Given the description of an element on the screen output the (x, y) to click on. 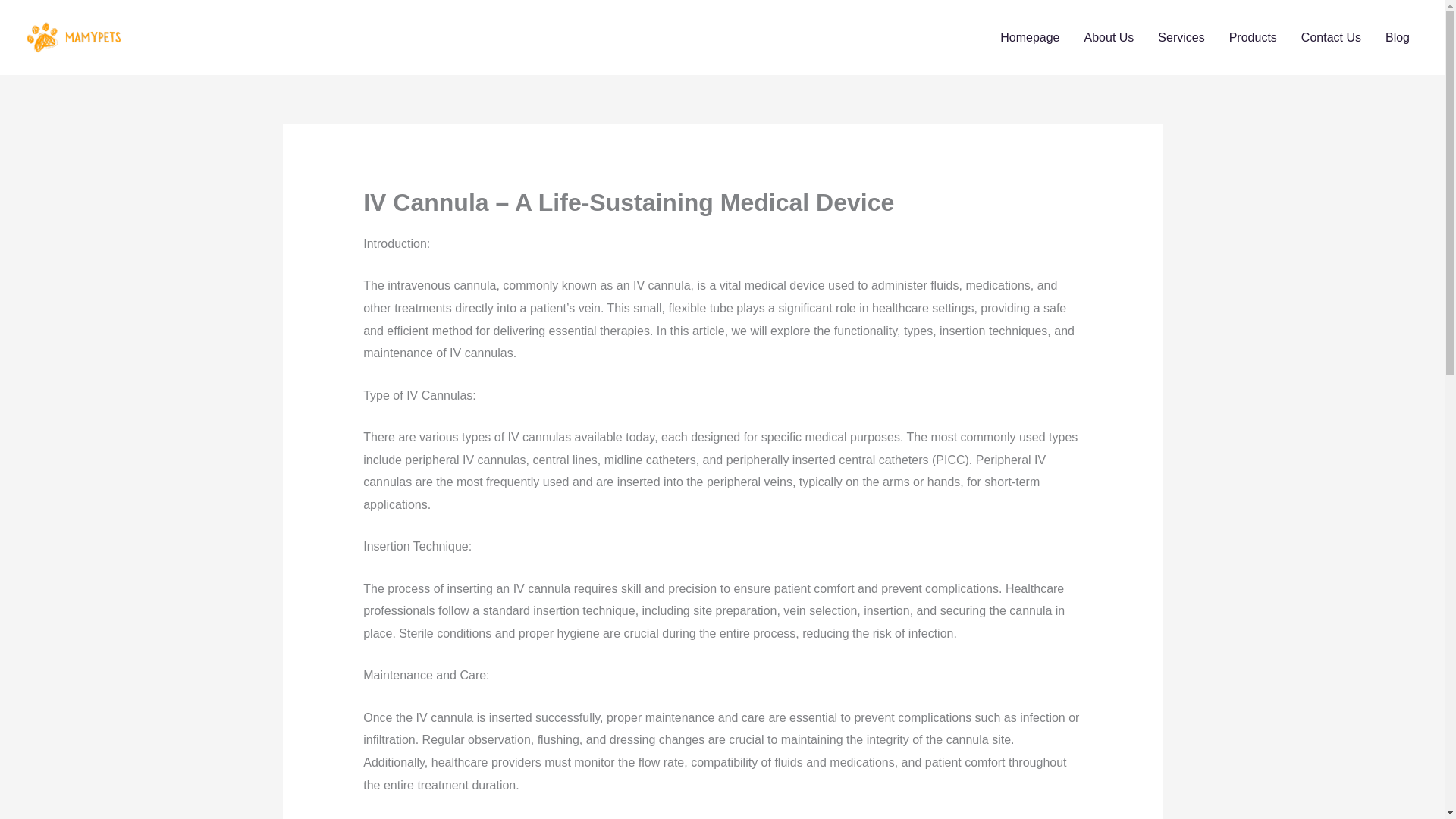
Services (1180, 36)
Products (1252, 36)
Blog (1397, 36)
About Us (1109, 36)
Contact Us (1330, 36)
Homepage (1029, 36)
